Given the description of an element on the screen output the (x, y) to click on. 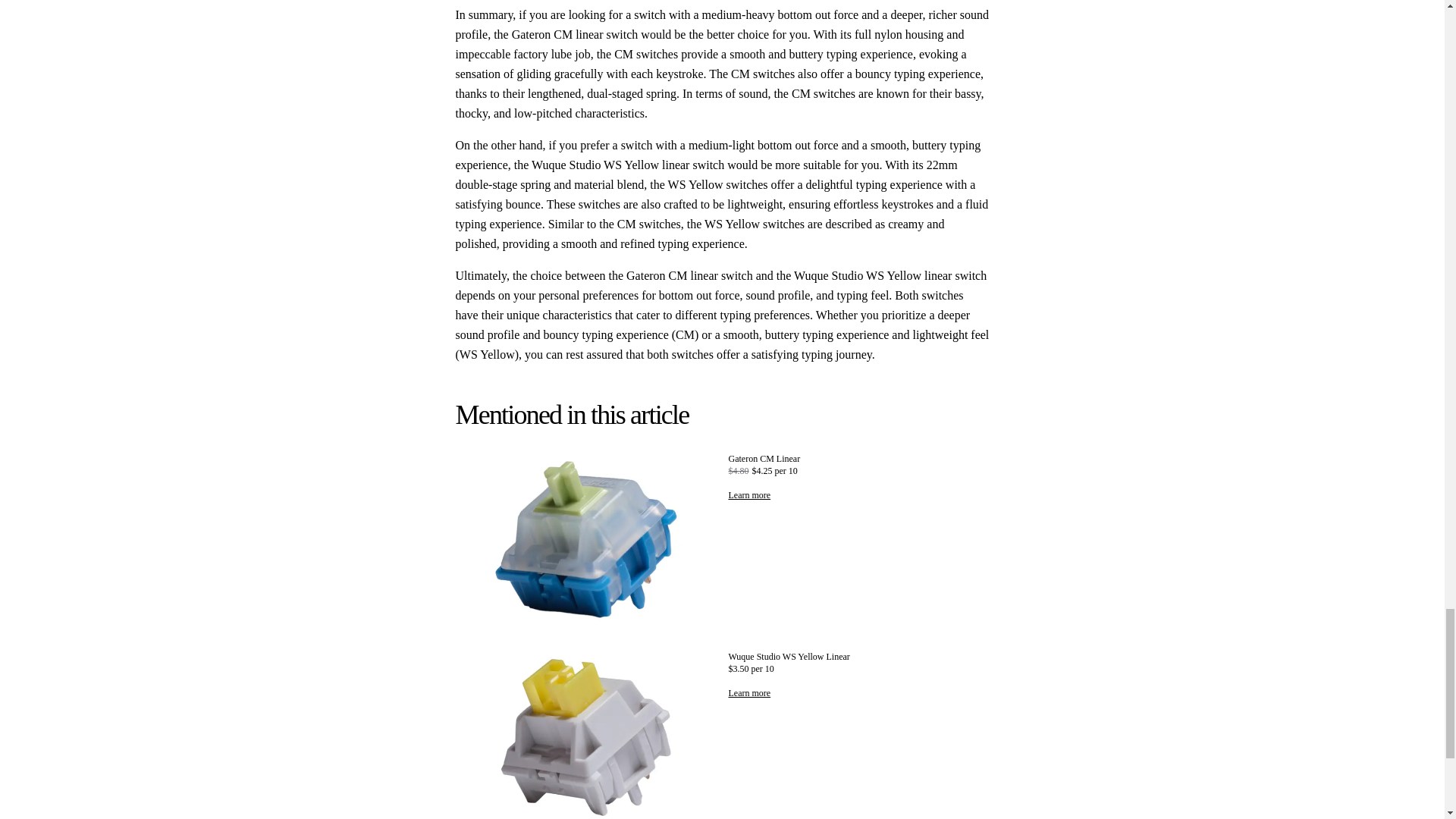
Learn more (749, 692)
Wuque Studio WS Yellow Linear (858, 656)
Learn more (749, 494)
Gateron CM Linear (858, 458)
